Given the description of an element on the screen output the (x, y) to click on. 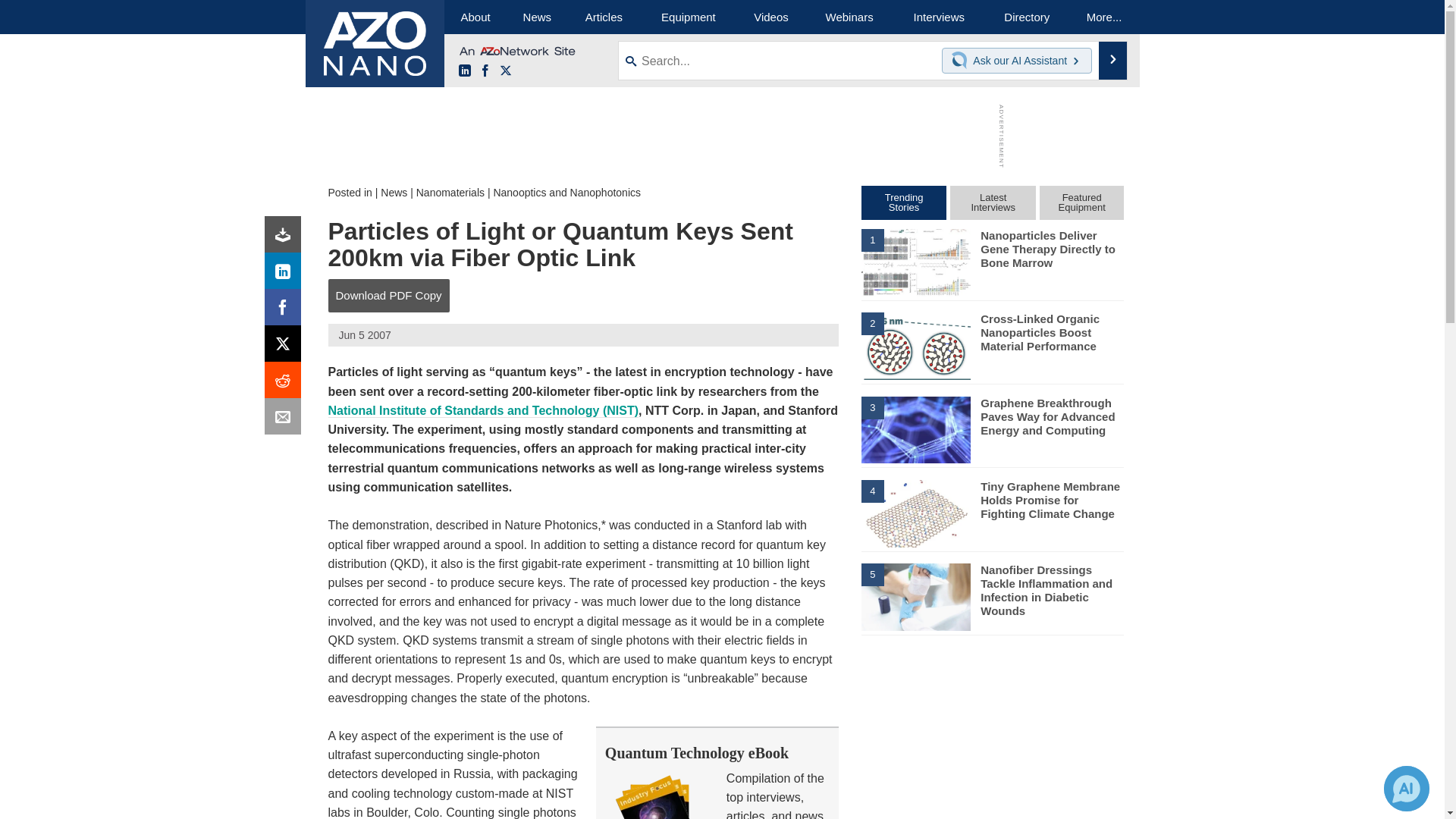
Equipment (688, 17)
Nanomaterials (450, 192)
More... (1104, 17)
Articles (603, 17)
Interviews (939, 17)
Email (285, 420)
Facebook (485, 71)
Facebook (285, 311)
About (475, 17)
X (505, 71)
Webinars (849, 17)
LinkedIn (464, 71)
LinkedIn (285, 275)
Search (1112, 60)
